Given the description of an element on the screen output the (x, y) to click on. 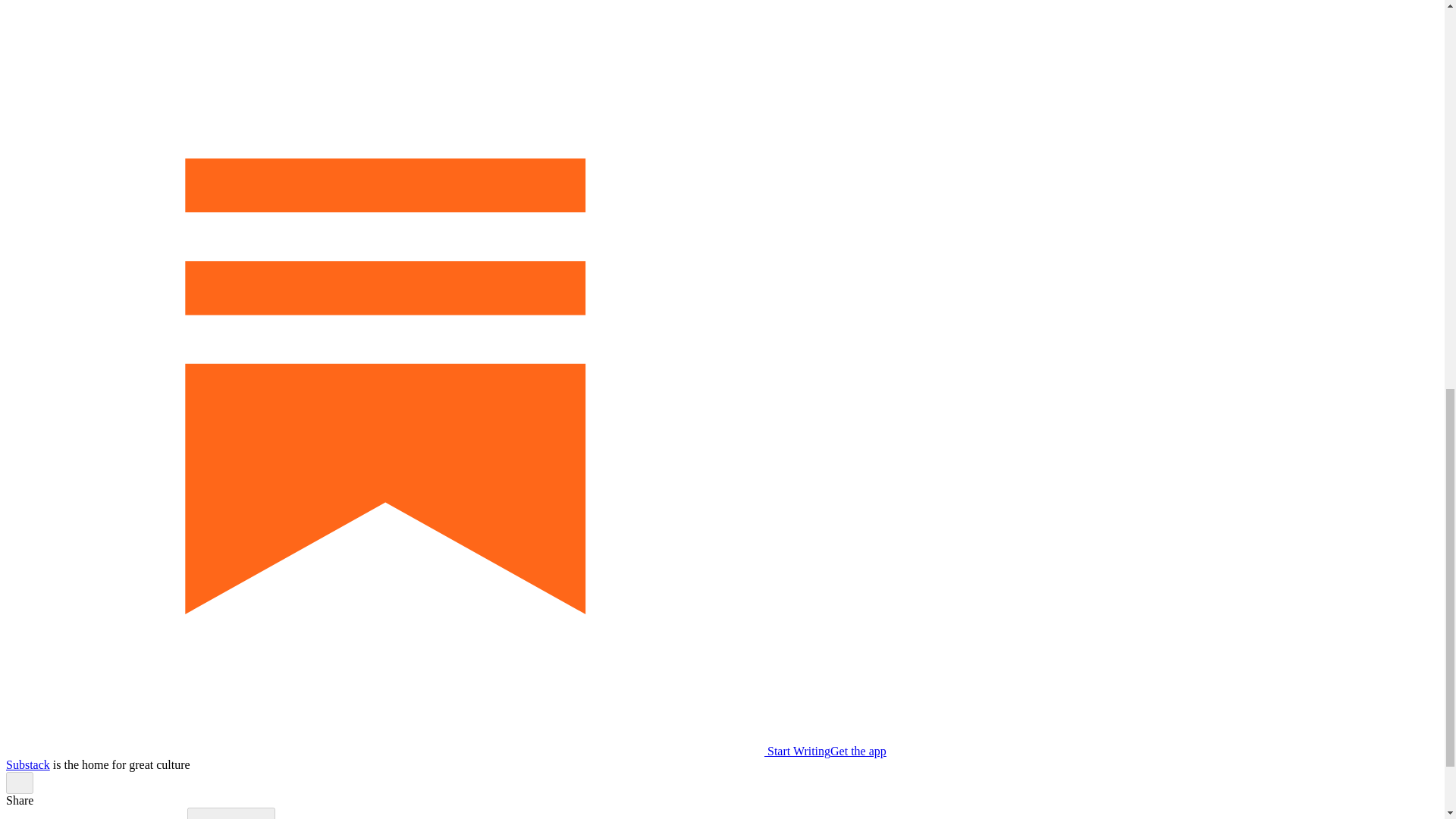
Get the app (857, 750)
Start Writing (417, 750)
Substack (27, 764)
